Given the description of an element on the screen output the (x, y) to click on. 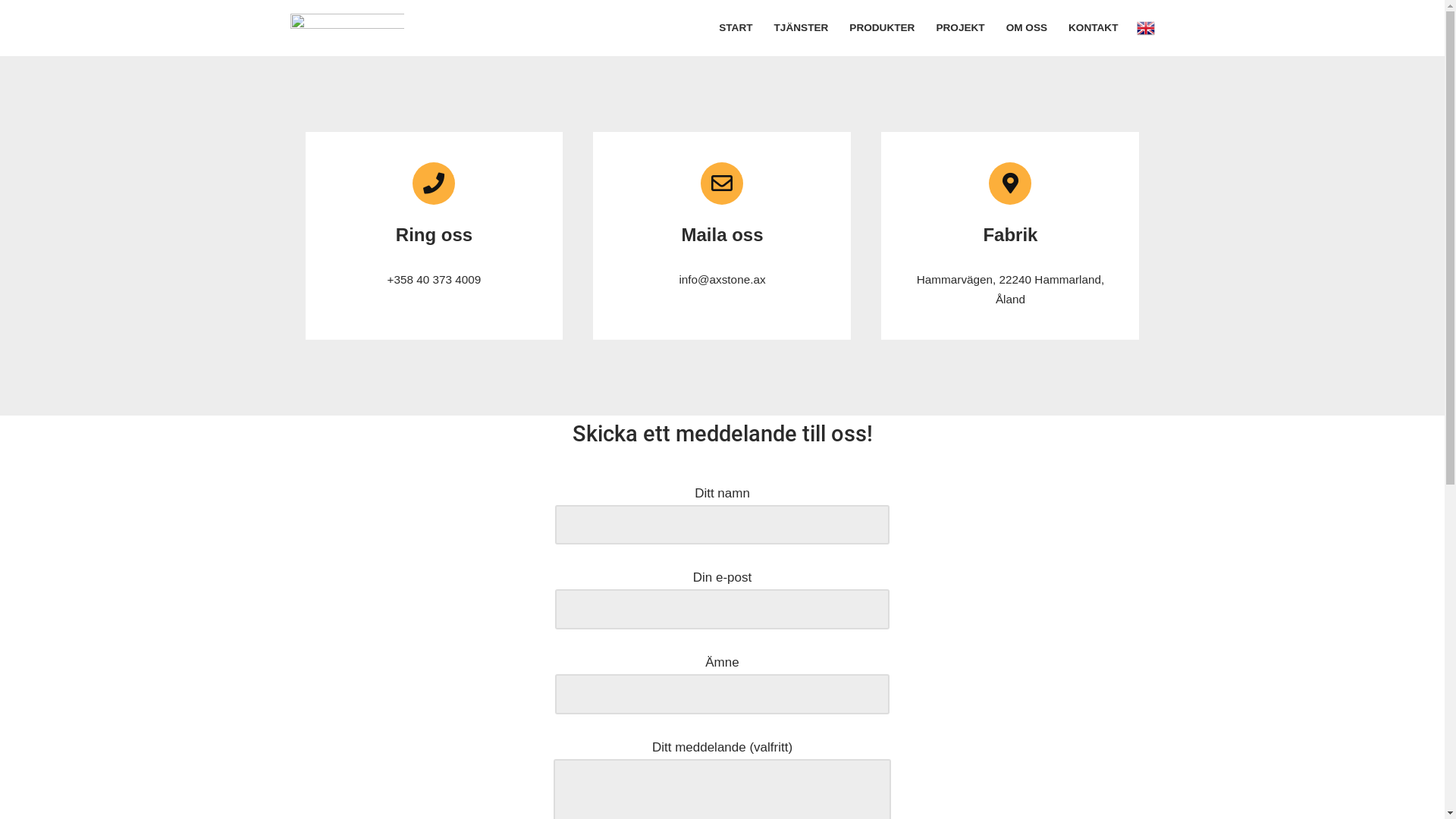
Swedish Element type: hover (1144, 27)
PROJEKT Element type: text (959, 27)
Skip to content Element type: text (11, 31)
PRODUKTER Element type: text (881, 27)
OM OSS Element type: text (1026, 27)
START Element type: text (735, 27)
KONTAKT Element type: text (1092, 27)
info@axstone.ax Element type: text (721, 279)
+358 40 373 4009 Element type: text (434, 279)
